Given the description of an element on the screen output the (x, y) to click on. 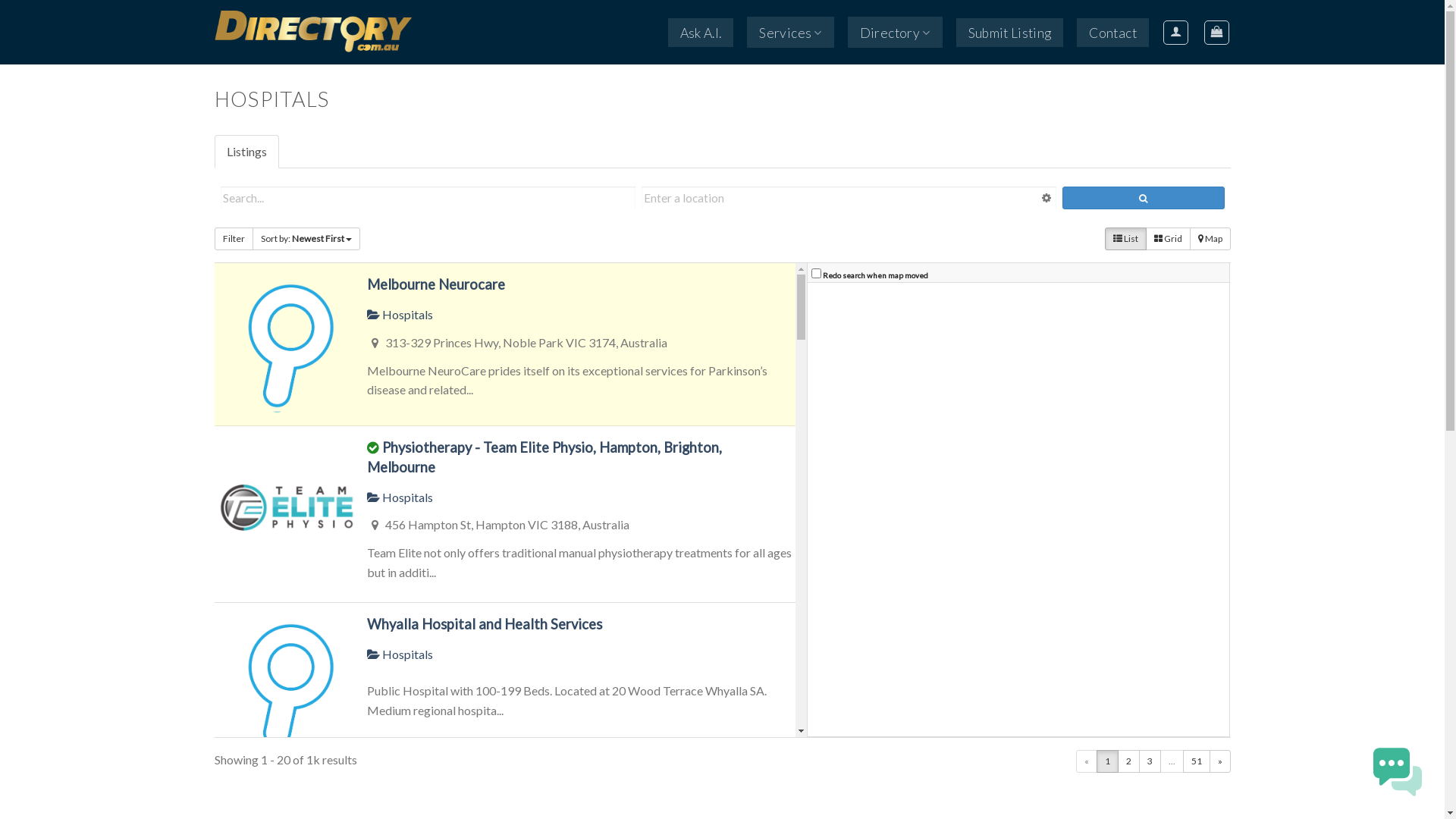
Map Element type: text (1209, 238)
51 Element type: text (1196, 760)
Hospitals Element type: text (400, 496)
Hospitals Element type: text (400, 653)
2 Element type: text (1128, 760)
Services Element type: text (789, 31)
List Element type: text (1124, 238)
Directory.com.au Element type: hover (323, 32)
Ask A.I. Element type: text (701, 32)
Filter Element type: text (232, 238)
Melbourne Neurocare Element type: text (436, 284)
Wilcannia Multi Purpose Service Element type: text (468, 786)
Directory Element type: text (894, 31)
This is an owner verified listing. Element type: hover (373, 448)
Contact Element type: text (1112, 32)
Cart Element type: hover (1216, 31)
3 Element type: text (1150, 760)
Sort by: Newest First Element type: text (305, 238)
Listings Element type: text (245, 151)
Submit Listing Element type: text (1009, 32)
Hospitals Element type: text (400, 314)
Whyalla Hospital and Health Services Element type: text (484, 623)
Grid Element type: text (1167, 238)
1 Element type: text (1107, 760)
... Element type: text (1171, 760)
